Given the description of an element on the screen output the (x, y) to click on. 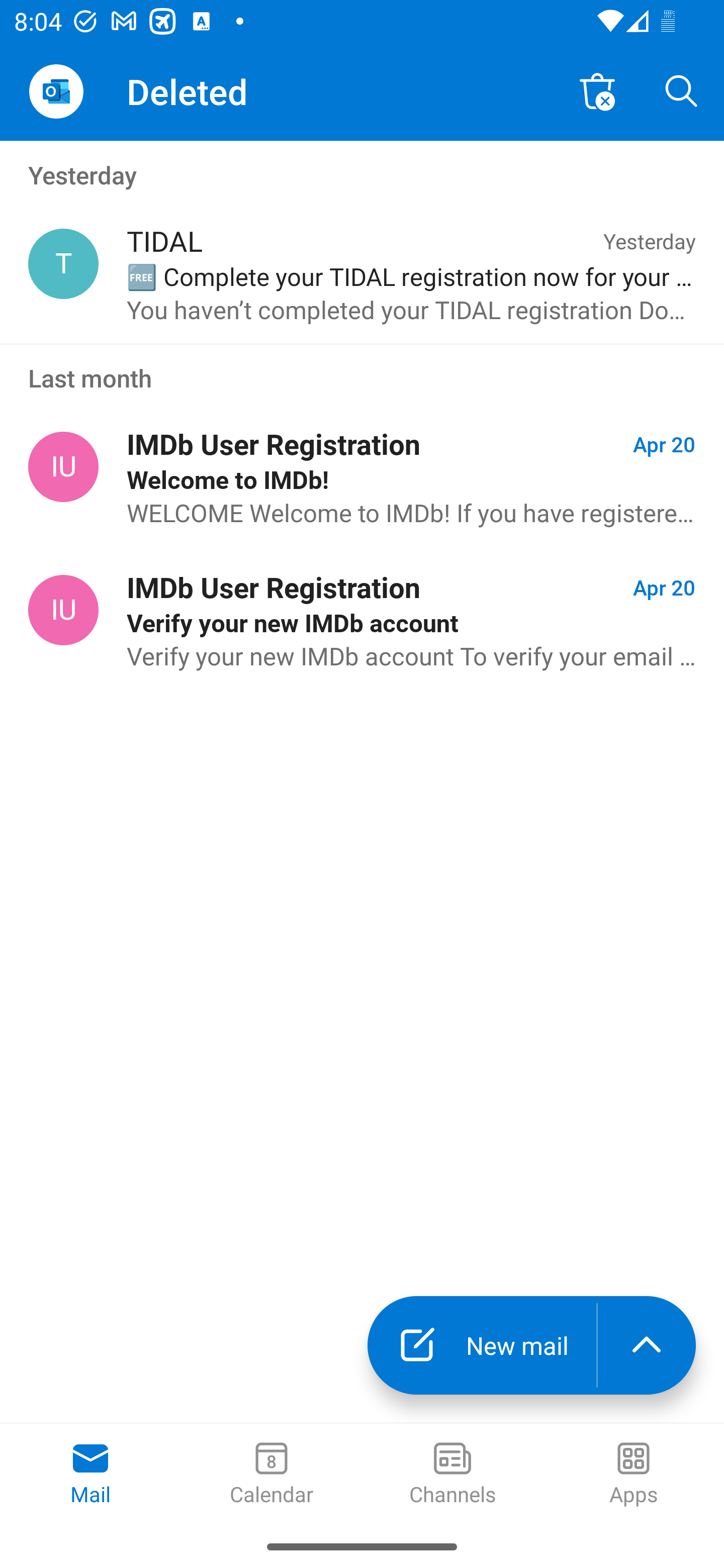
Empty Deleted (597, 90)
Search, ,  (681, 90)
Open Navigation Drawer (55, 91)
TIDAL, hello@email.tidal.com (63, 263)
IMDb User Registration, do-not-reply-here@imdb.com (63, 466)
IMDb User Registration, do-not-reply-here@imdb.com (63, 610)
New mail (481, 1344)
launch the extended action menu (646, 1344)
Calendar (271, 1474)
Channels (452, 1474)
Apps (633, 1474)
